Given the description of an element on the screen output the (x, y) to click on. 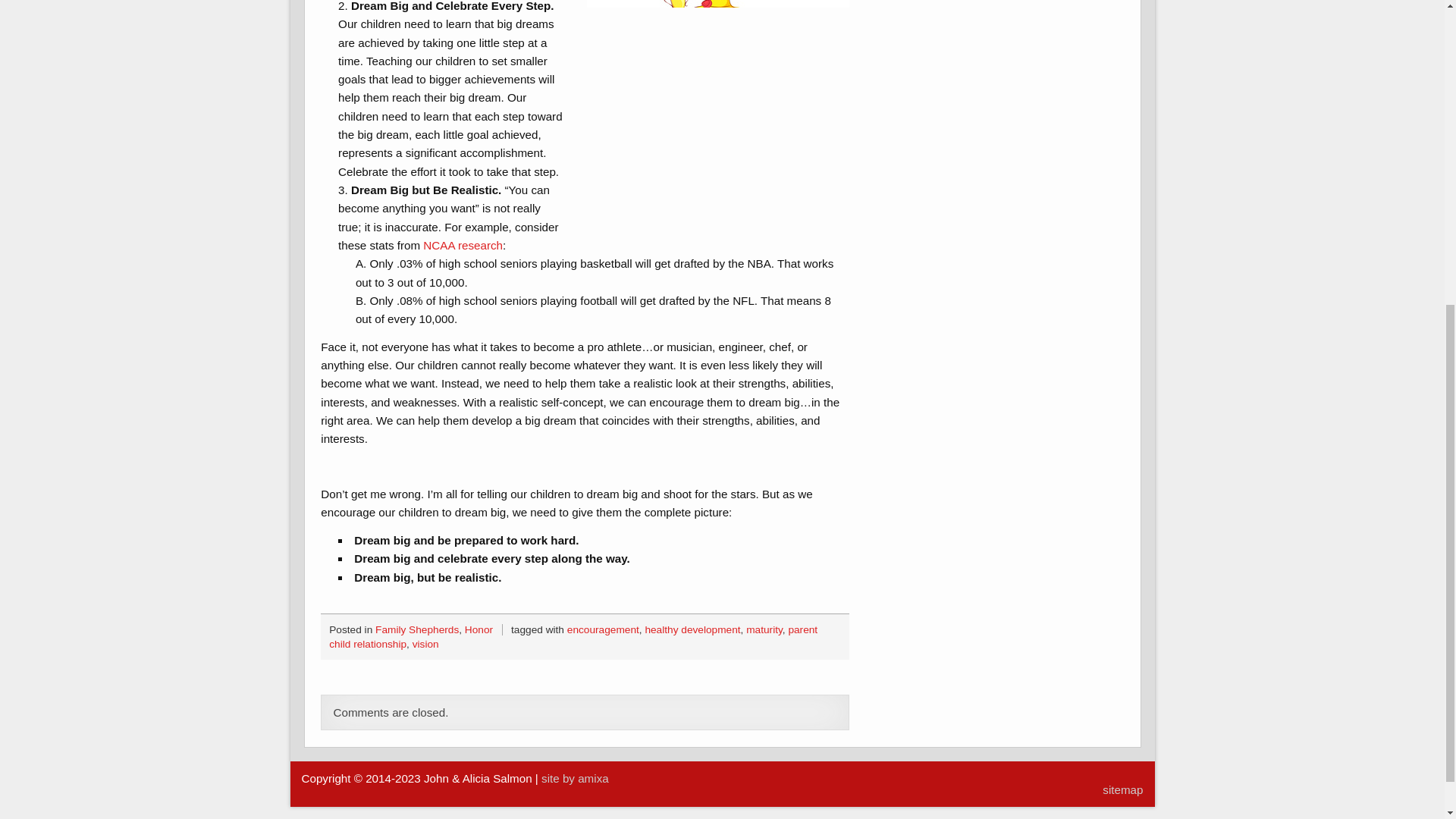
maturity (764, 629)
Family Shepherds (416, 629)
healthy development (692, 629)
encouragement (603, 629)
vision (425, 644)
sitemap (1122, 789)
Honor (478, 629)
NCAA research (462, 245)
parent child relationship (572, 637)
site by amixa (574, 778)
